Given the description of an element on the screen output the (x, y) to click on. 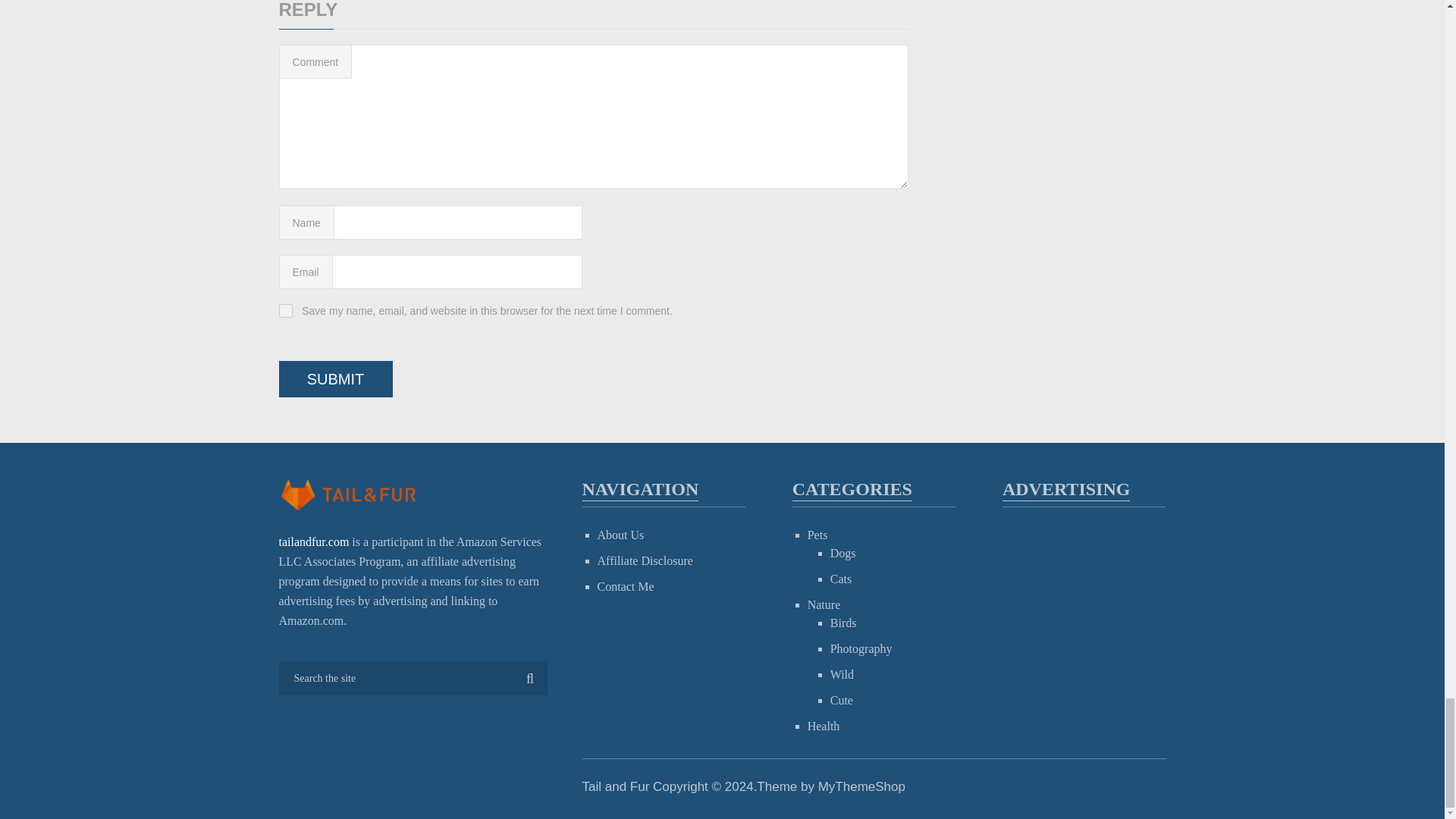
Submit (336, 379)
Submit (336, 379)
yes (285, 310)
